Given the description of an element on the screen output the (x, y) to click on. 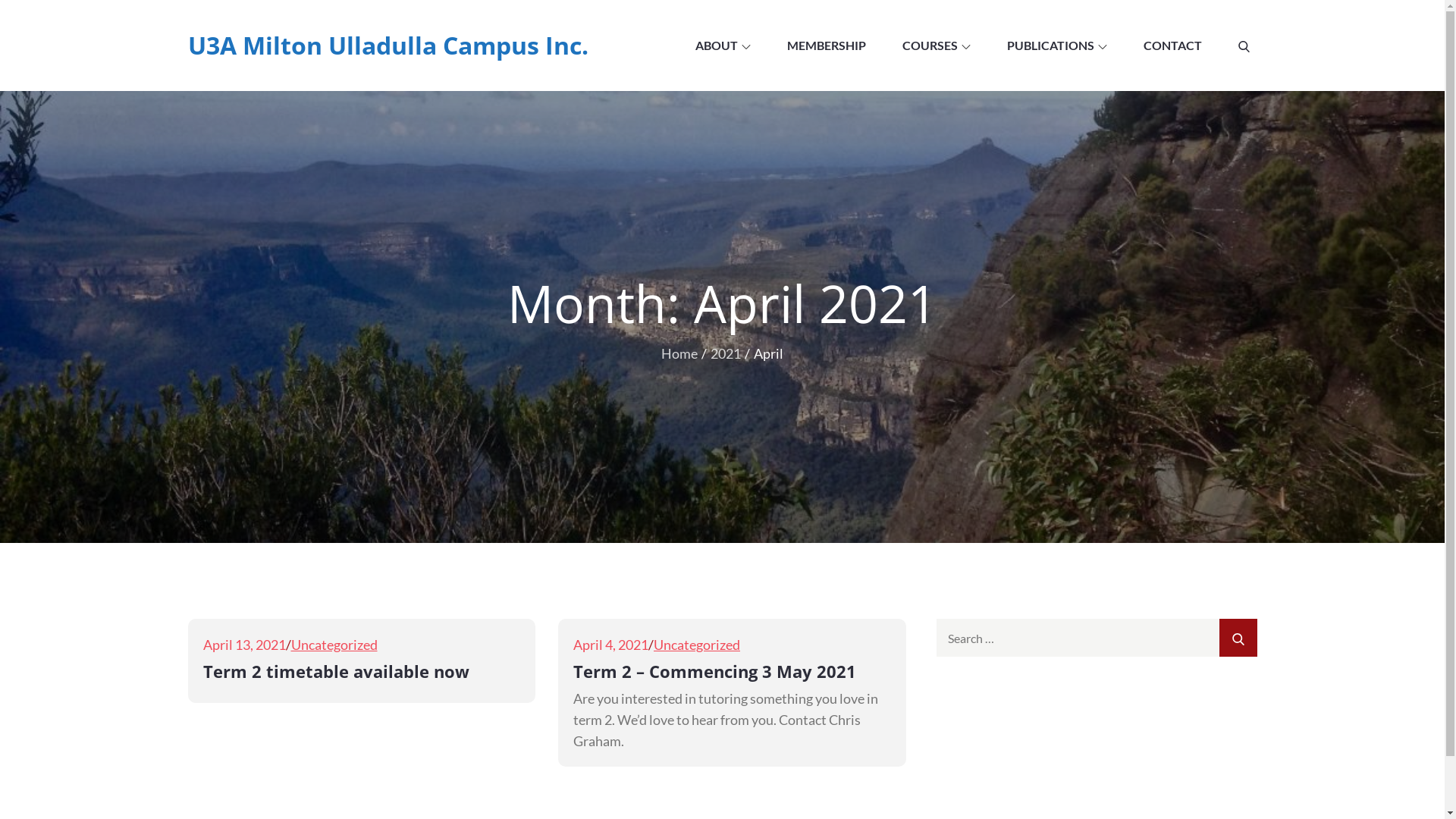
COURSES Element type: text (936, 45)
April 13, 2021 Element type: text (244, 644)
CONTACT Element type: text (1172, 45)
Uncategorized Element type: text (696, 644)
April 4, 2021 Element type: text (610, 644)
U3A Milton Ulladulla Campus Inc. Element type: text (388, 44)
PUBLICATIONS Element type: text (1056, 45)
Home Element type: text (679, 353)
Uncategorized Element type: text (334, 644)
SEARCH Element type: text (1238, 637)
Term 2 timetable available now Element type: text (336, 670)
MEMBERSHIP Element type: text (826, 45)
ABOUT Element type: text (722, 45)
2021 Element type: text (725, 353)
